Given the description of an element on the screen output the (x, y) to click on. 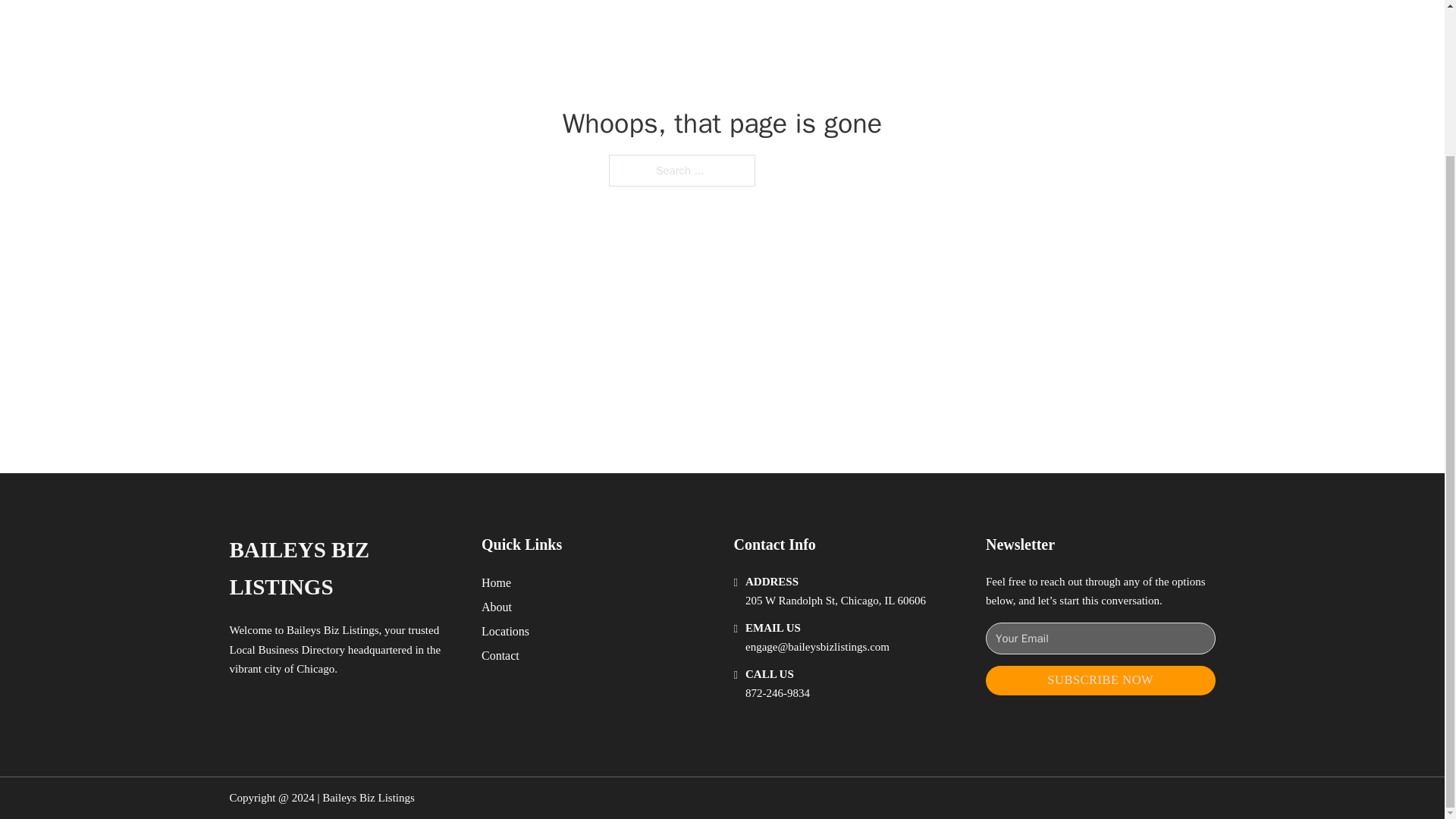
About (496, 607)
Home (496, 582)
Locations (505, 630)
872-246-9834 (777, 693)
SUBSCRIBE NOW (1100, 680)
BAILEYS BIZ LISTINGS (343, 568)
Contact (500, 655)
